Given the description of an element on the screen output the (x, y) to click on. 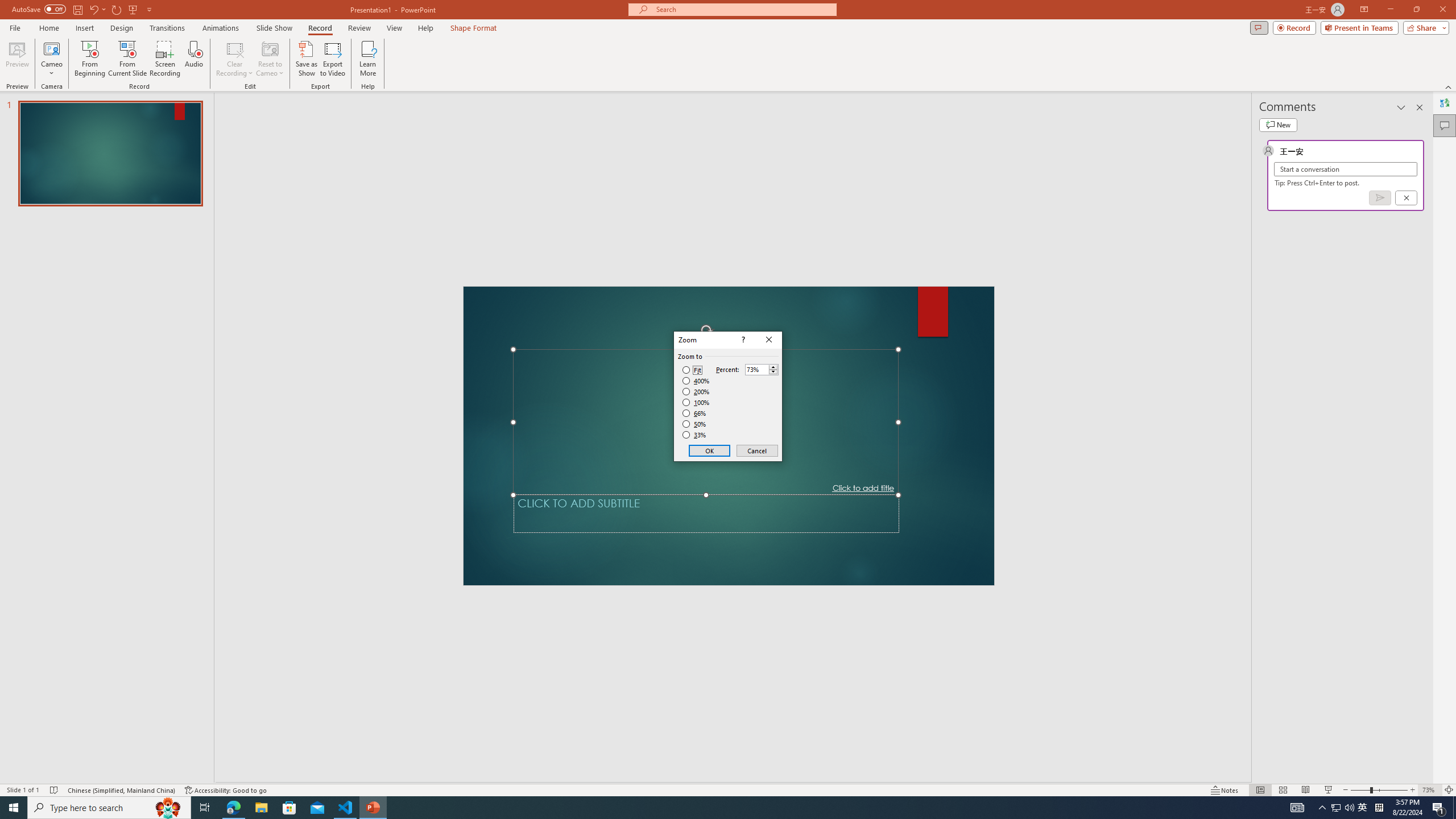
Post comment (Ctrl + Enter) (1379, 197)
Translator (1444, 102)
Notification Chevron (1322, 807)
66% (694, 412)
